Given the description of an element on the screen output the (x, y) to click on. 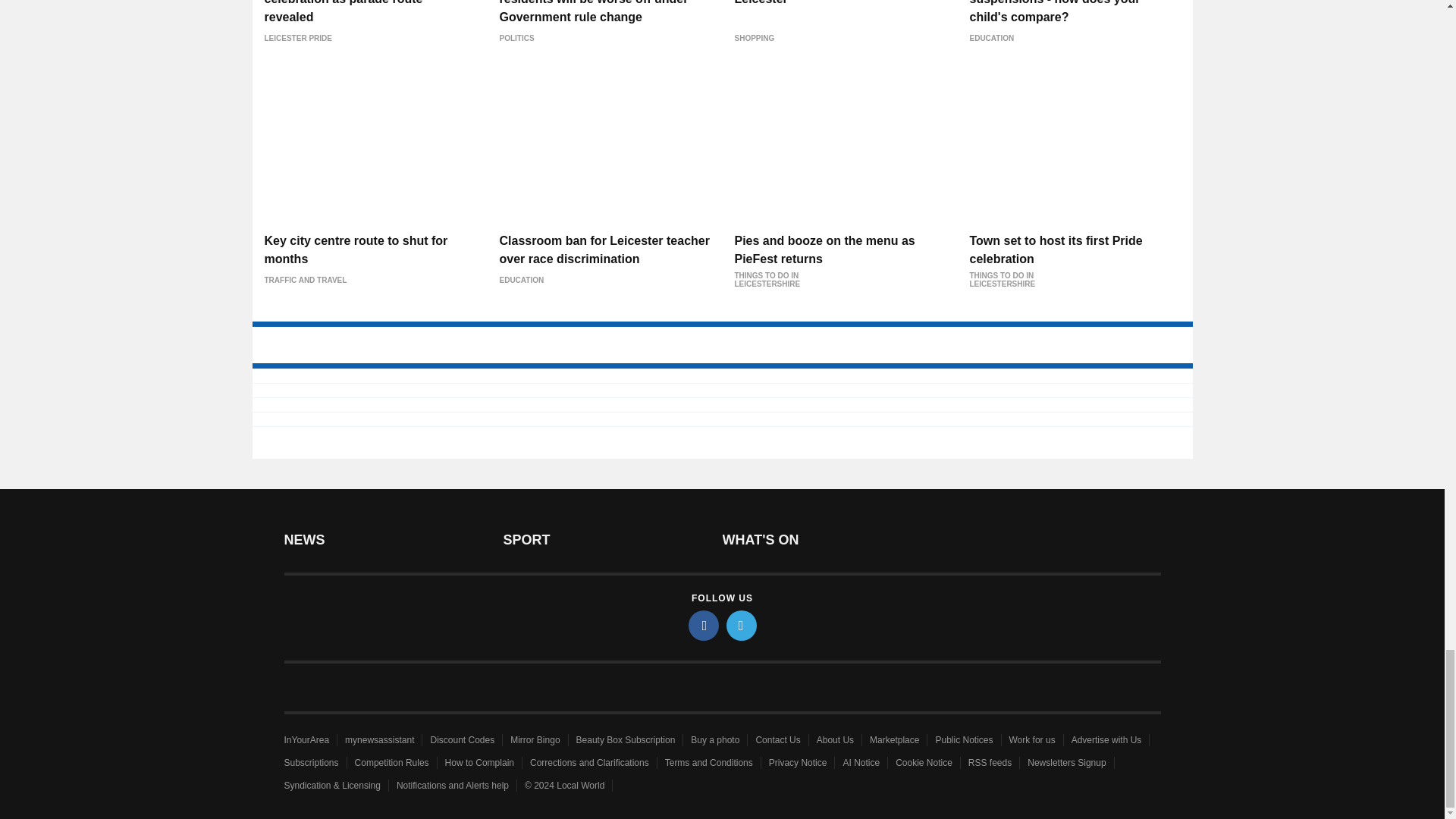
twitter (741, 625)
facebook (703, 625)
